Given the description of an element on the screen output the (x, y) to click on. 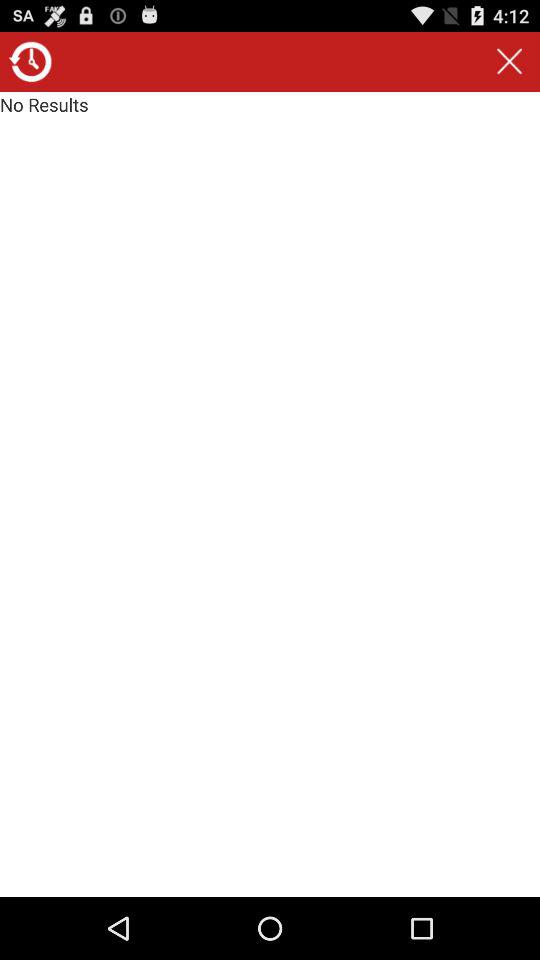
tap the icon at the center (270, 494)
